Given the description of an element on the screen output the (x, y) to click on. 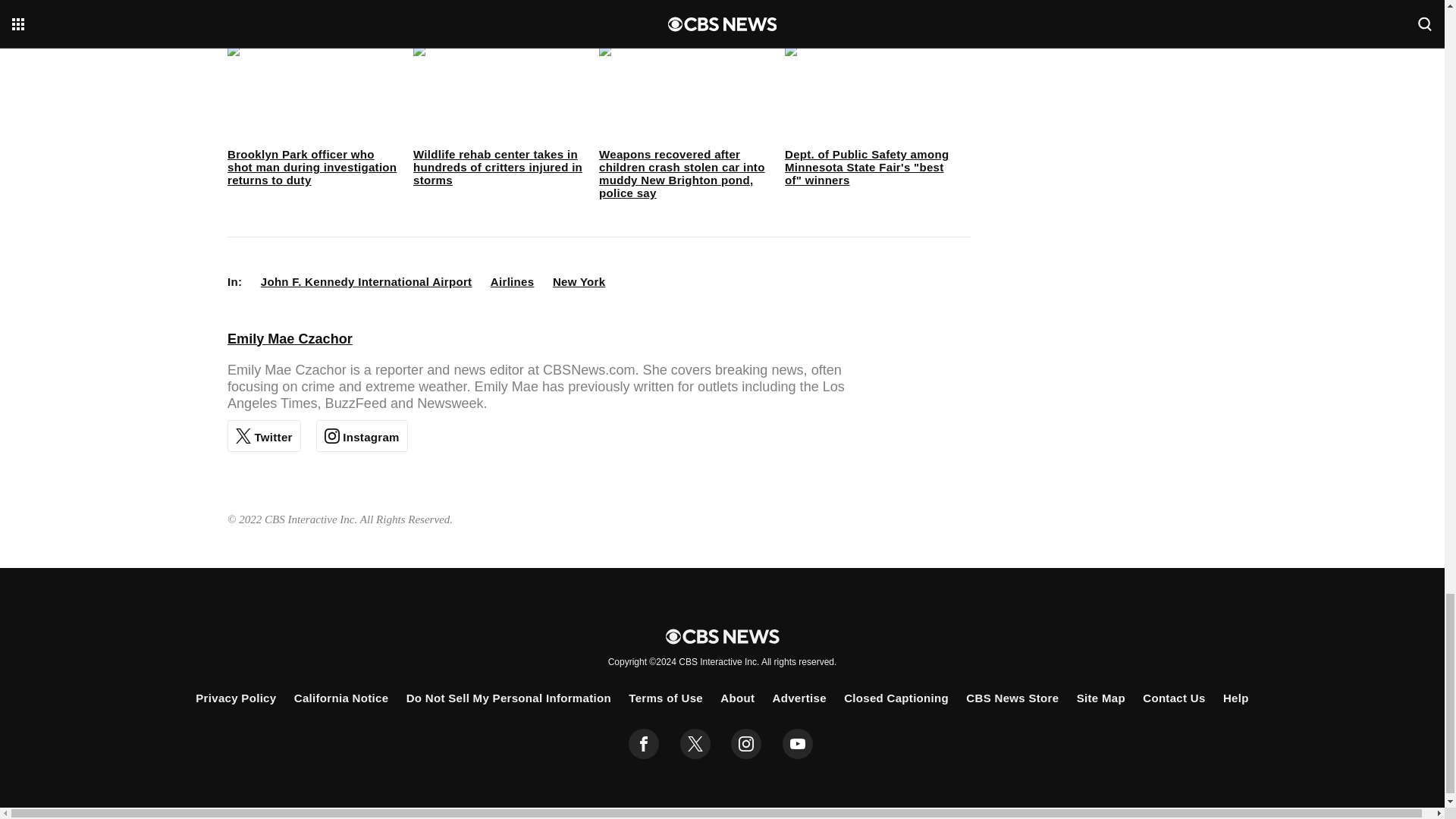
facebook (643, 743)
instagram (745, 743)
youtube (797, 743)
twitter (694, 743)
